Given the description of an element on the screen output the (x, y) to click on. 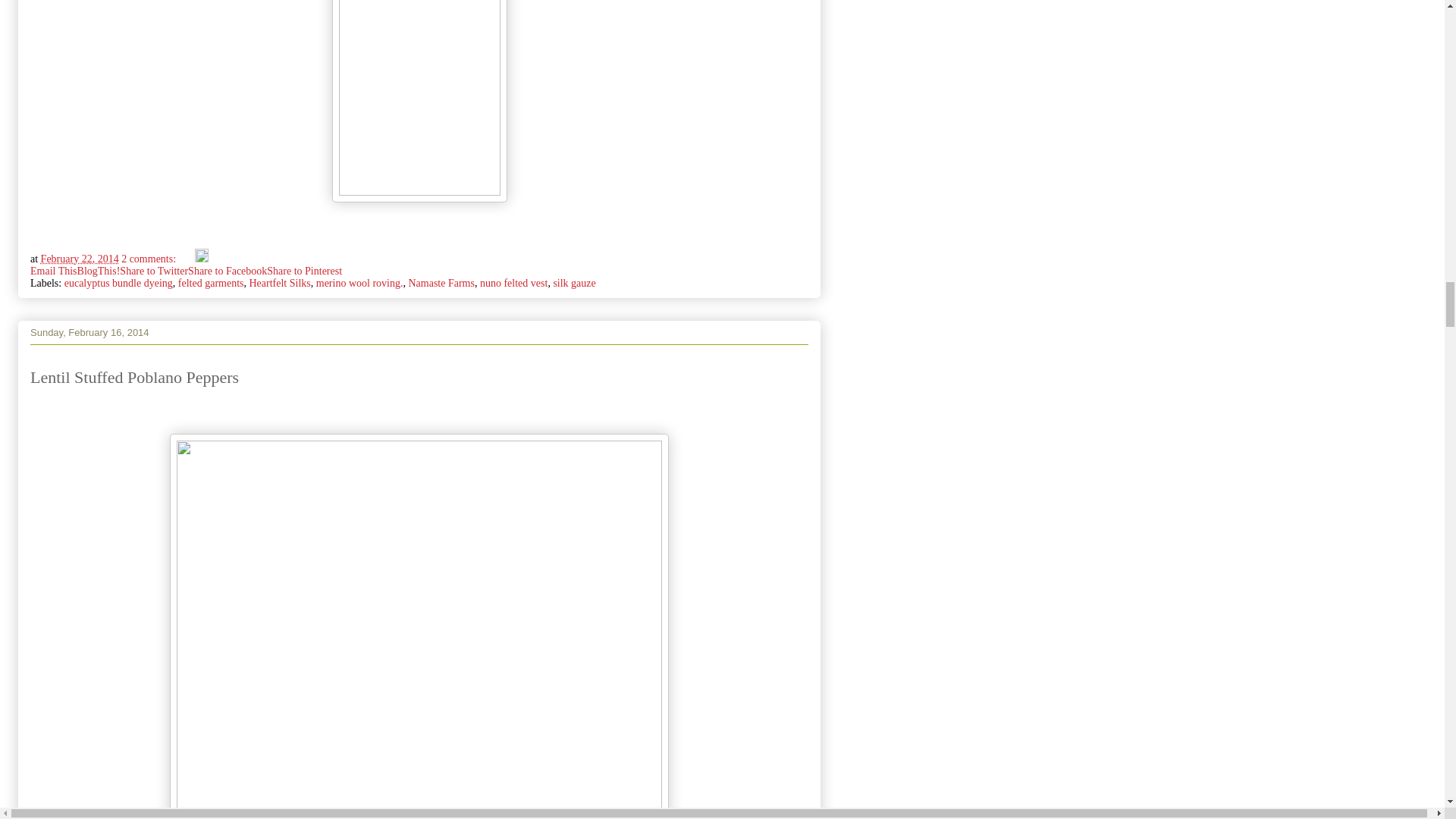
Share to Facebook (226, 270)
Lentil Stuffed Poblano Peppers (134, 376)
eucalyptus bundle dyeing (118, 283)
BlogThis! (98, 270)
nuno felted vest (513, 283)
merino wool roving. (359, 283)
Email This (53, 270)
Share to Pinterest (304, 270)
2 comments: (148, 258)
February 22, 2014 (79, 258)
